Given the description of an element on the screen output the (x, y) to click on. 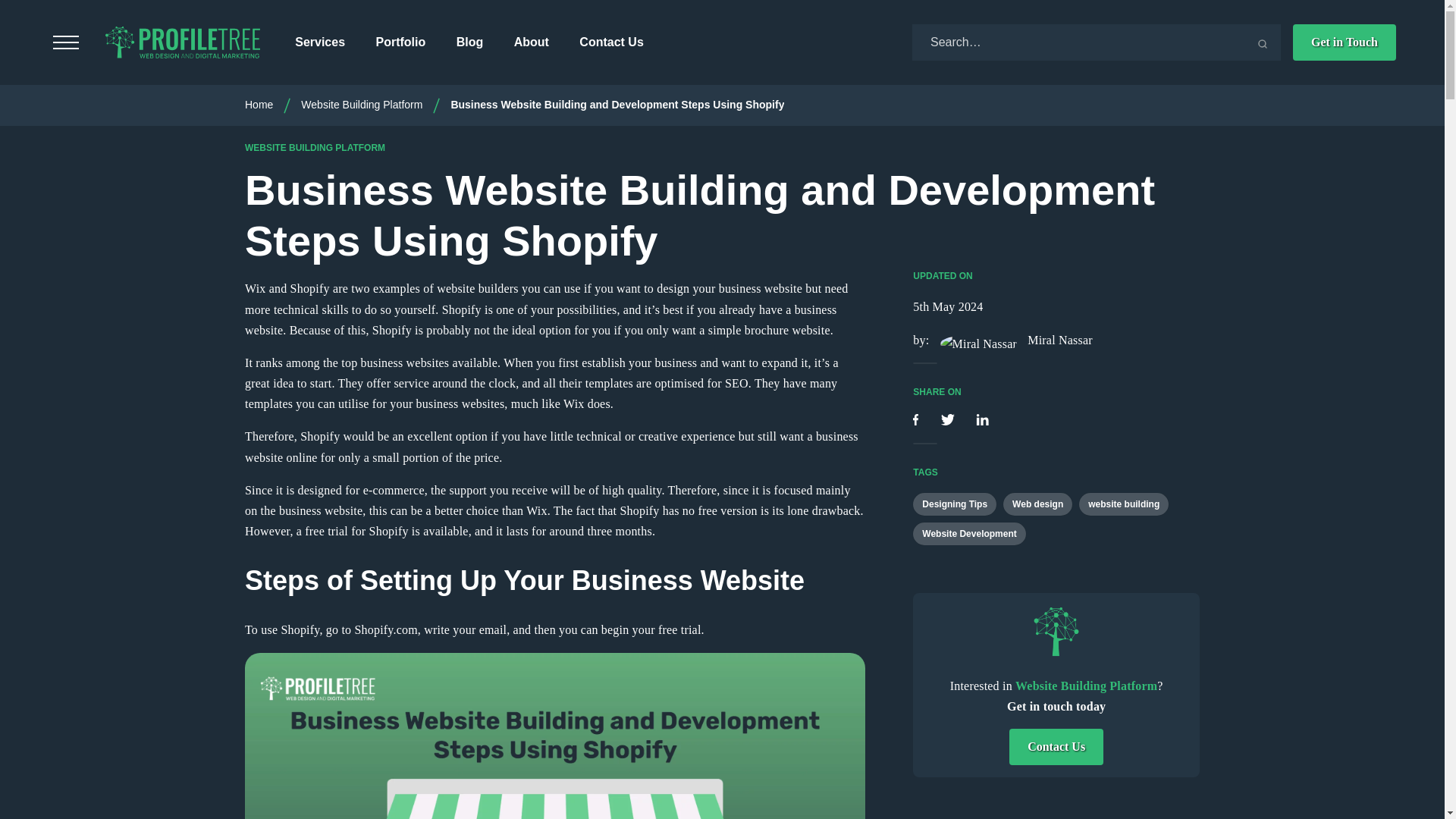
Blog (470, 42)
Services (320, 42)
Website Building Platform blogposts by ProfileTree (1056, 631)
Share on LinkedIn (981, 420)
Contact Us (611, 42)
Get in Touch (1344, 42)
Website Building Platform (361, 104)
Home (258, 104)
Share on Facebook (916, 420)
Share on Twitter (949, 420)
About (530, 42)
Portfolio (400, 42)
WEBSITE BUILDING PLATFORM (314, 147)
